Given the description of an element on the screen output the (x, y) to click on. 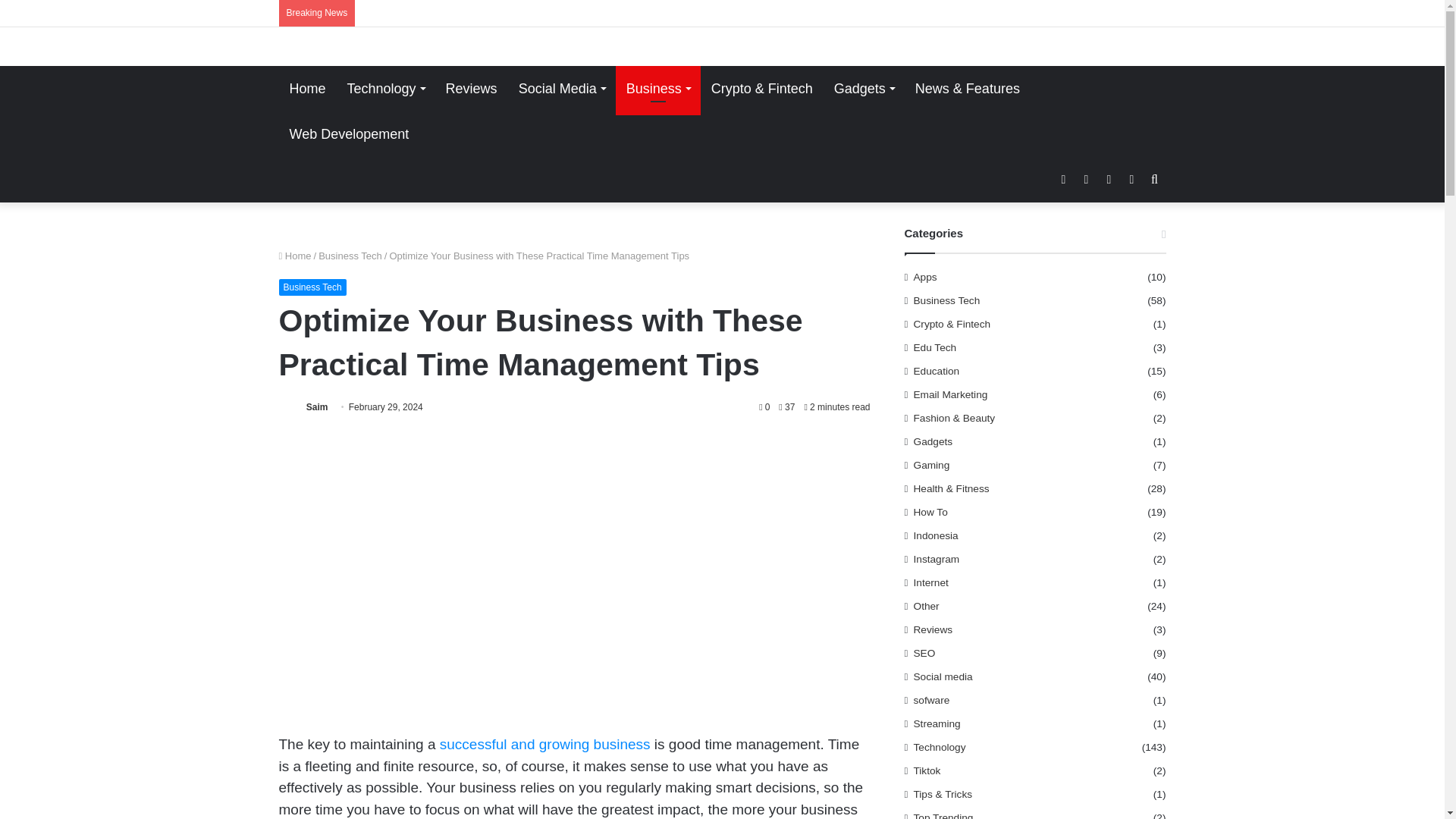
Business Tech (349, 255)
Social Media (561, 88)
Home (307, 88)
Saim (317, 407)
Business (657, 88)
Reviews (471, 88)
Gadgets (864, 88)
Web Developement (349, 134)
Saim (317, 407)
Home (295, 255)
